Given the description of an element on the screen output the (x, y) to click on. 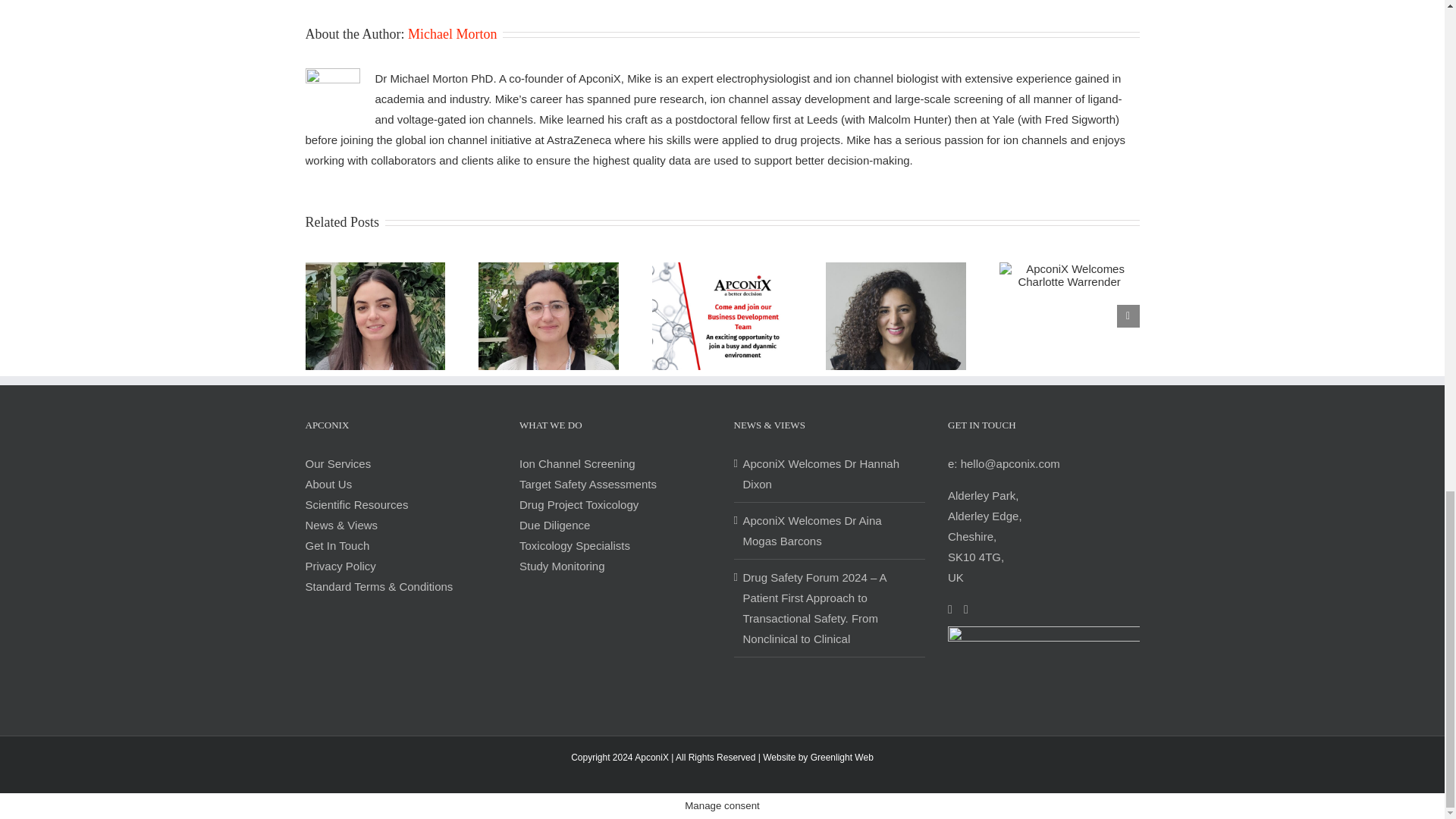
Posts by Michael Morton (451, 33)
